Given the description of an element on the screen output the (x, y) to click on. 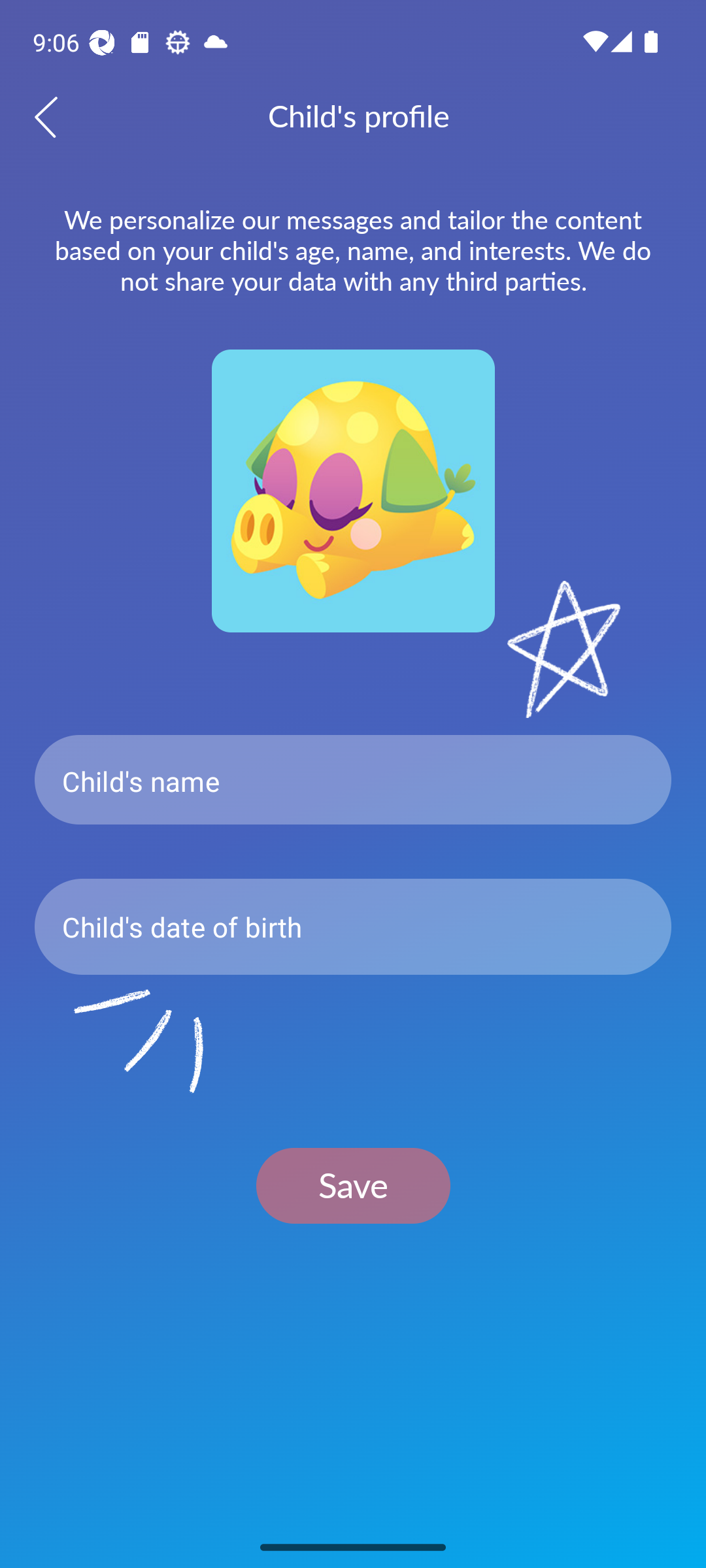
Child's name (352, 779)
Child's date of birth (352, 926)
Save (353, 1185)
